Given the description of an element on the screen output the (x, y) to click on. 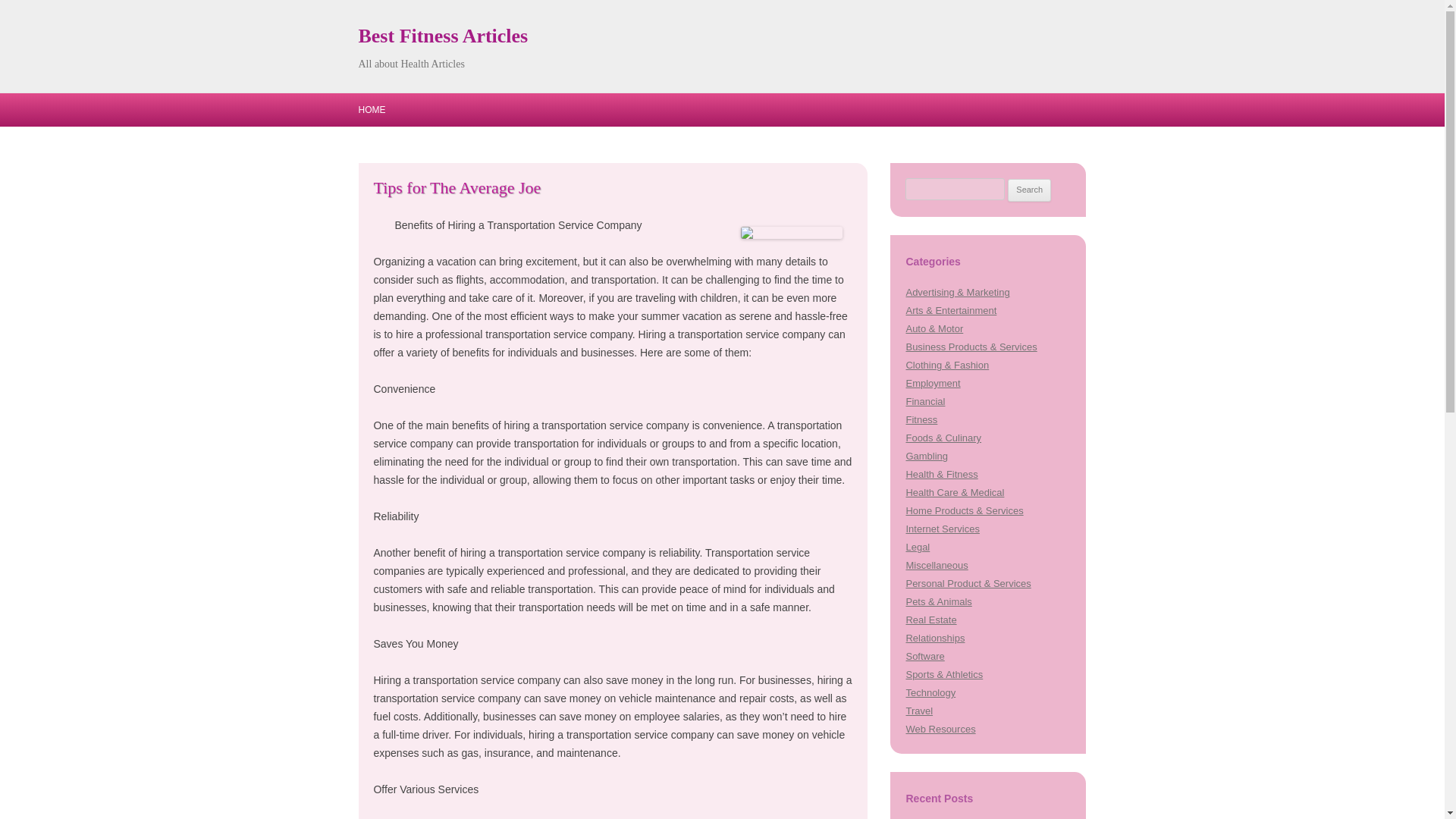
Real Estate (930, 619)
Search (1029, 190)
Travel (919, 710)
Software (924, 655)
Internet Services (941, 528)
Gambling (926, 455)
Relationships (934, 637)
Best Fitness Articles (442, 36)
Fitness (921, 419)
Financial (924, 401)
Employment (932, 383)
Best Fitness Articles (442, 36)
Miscellaneous (936, 564)
